Given the description of an element on the screen output the (x, y) to click on. 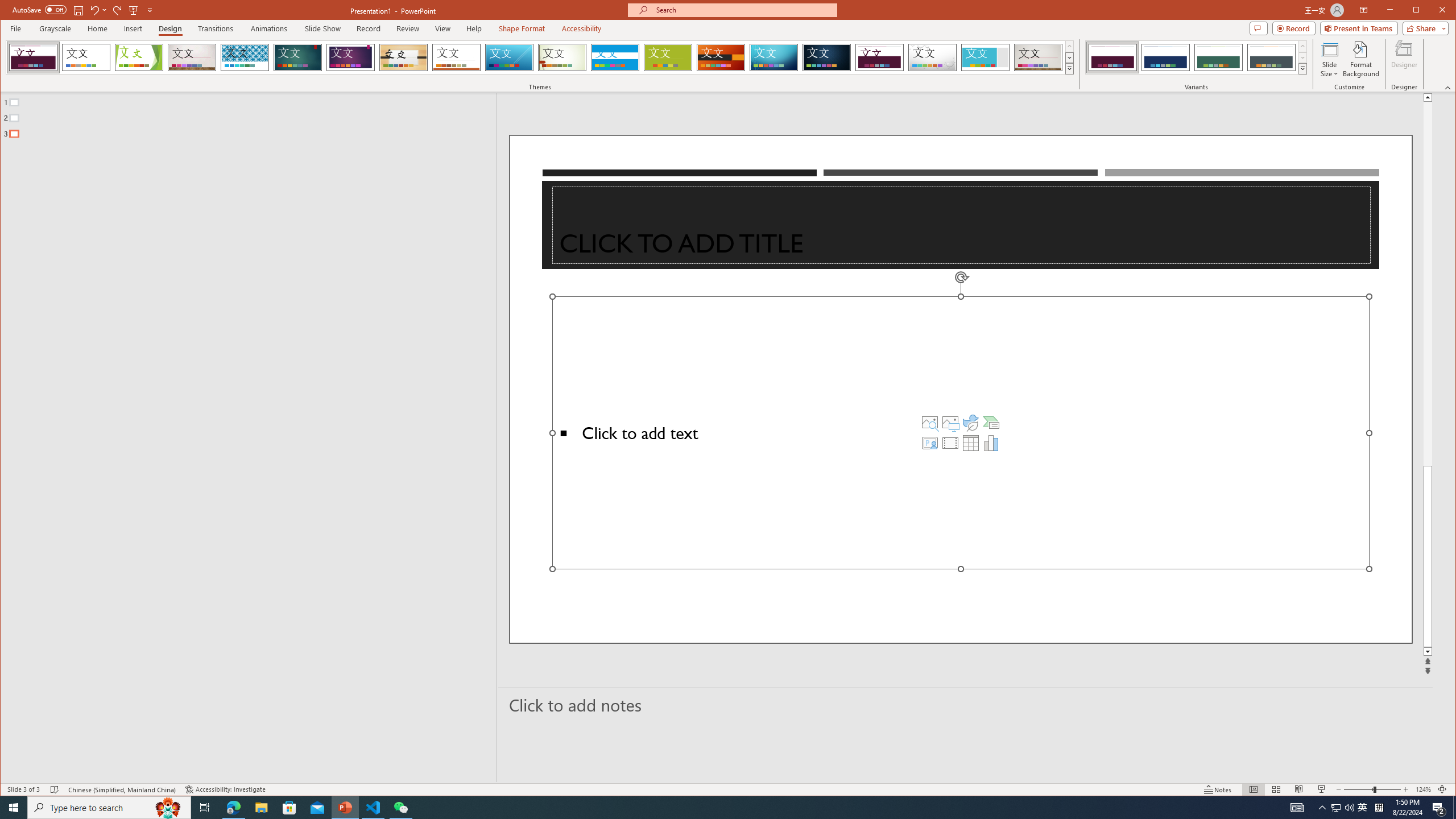
WeChat - 1 running window (400, 807)
Slide Size (1328, 59)
AutomationID: SlideThemesGallery (540, 57)
Grayscale (55, 28)
